Given the description of an element on the screen output the (x, y) to click on. 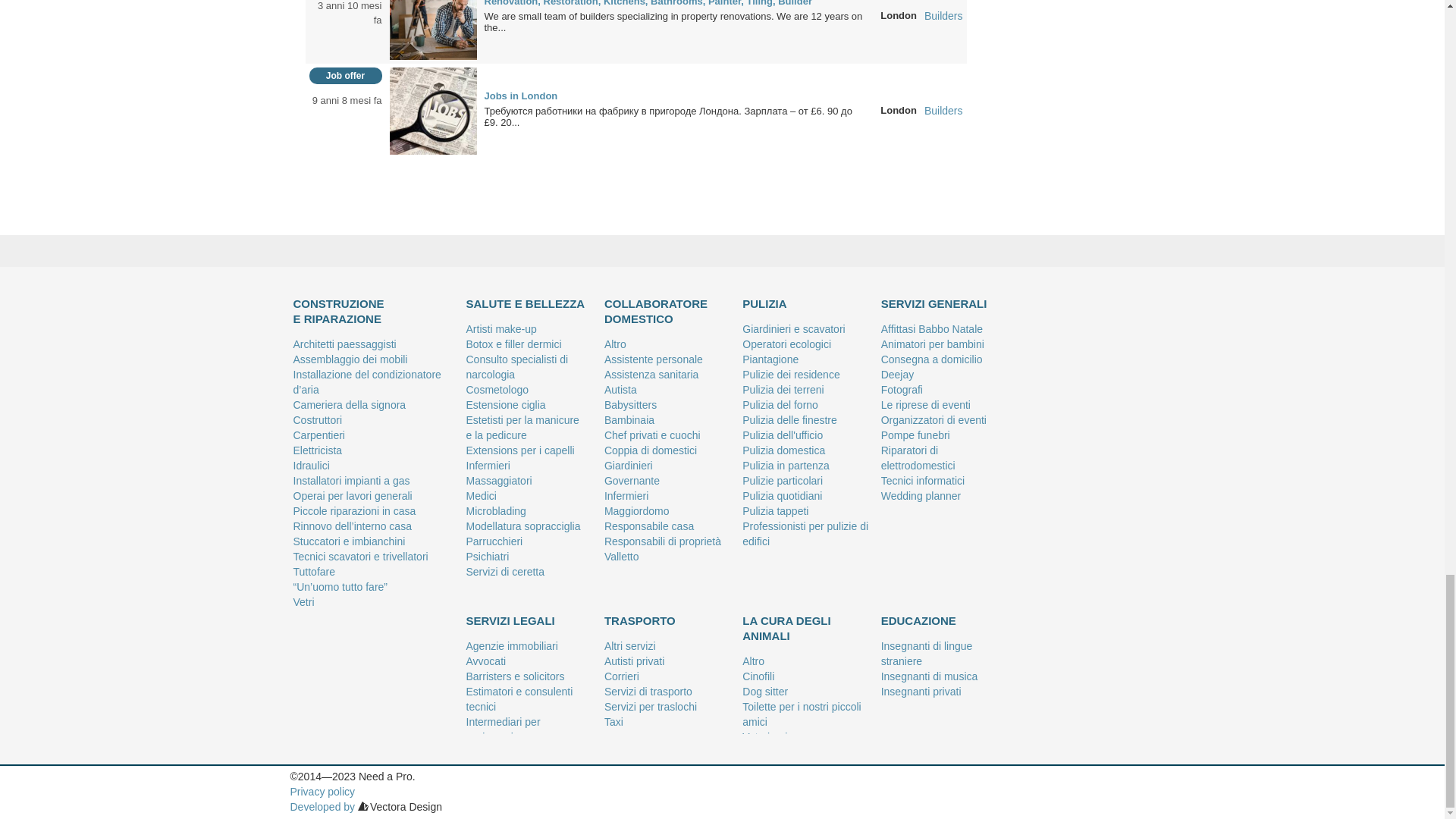
Jobs in London (433, 110)
